Given the description of an element on the screen output the (x, y) to click on. 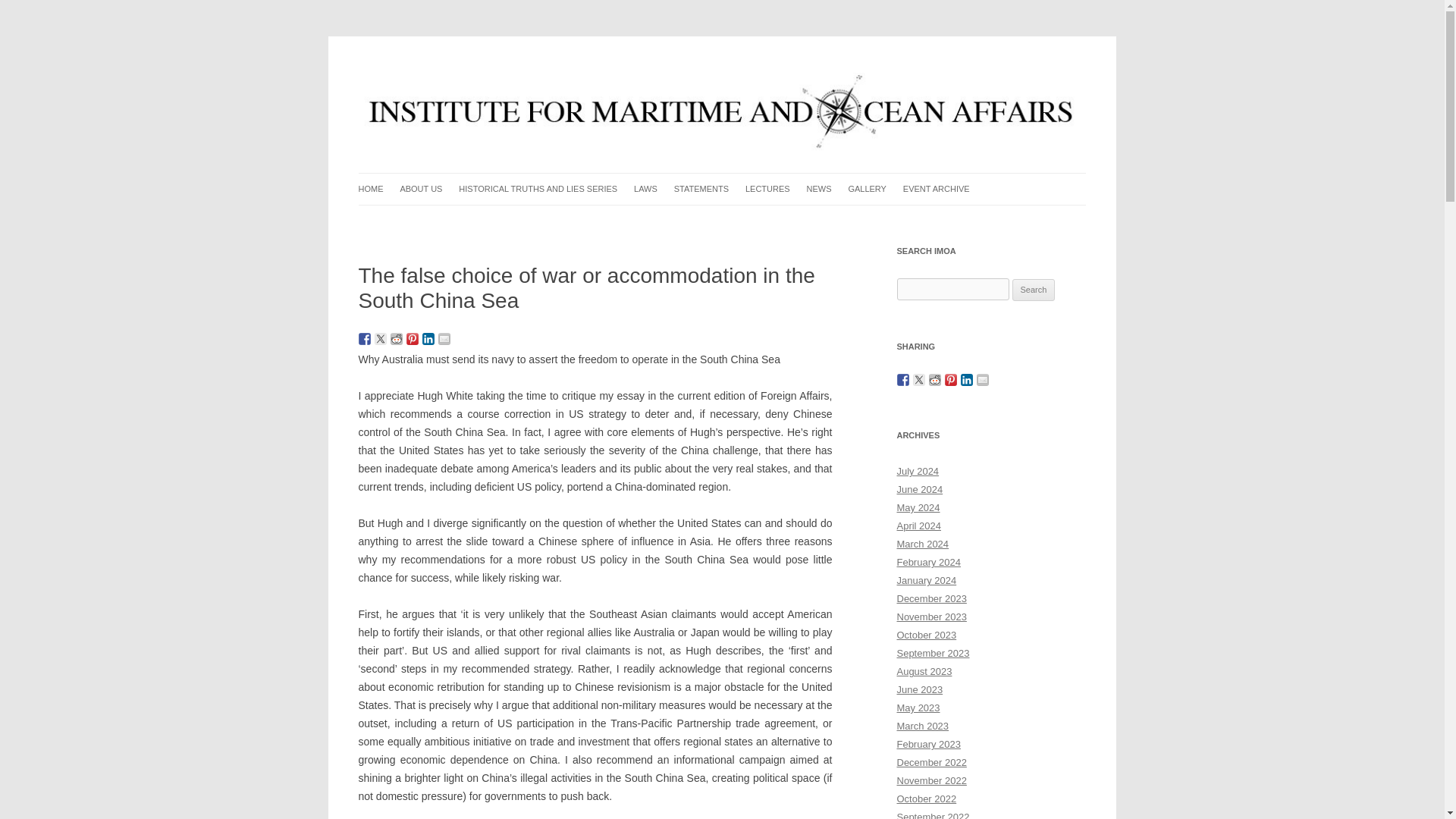
RELEVANT PHILIPPINE LAWS (709, 219)
Institute for Maritime and Ocean Affairs (542, 72)
Institute for Maritime and Ocean Affairs (542, 72)
ABOUT US (420, 188)
Search (1033, 290)
Share on Twitter (380, 338)
Skip to content (757, 177)
Share on Facebook (363, 338)
Relevant Philippine Laws (709, 219)
Skip to content (757, 177)
Share on Reddit (395, 338)
Pin it with Pinterest (412, 338)
HISTORICAL TRUTHS AND LIES SERIES (537, 188)
Share on Linkedin (427, 338)
